Given the description of an element on the screen output the (x, y) to click on. 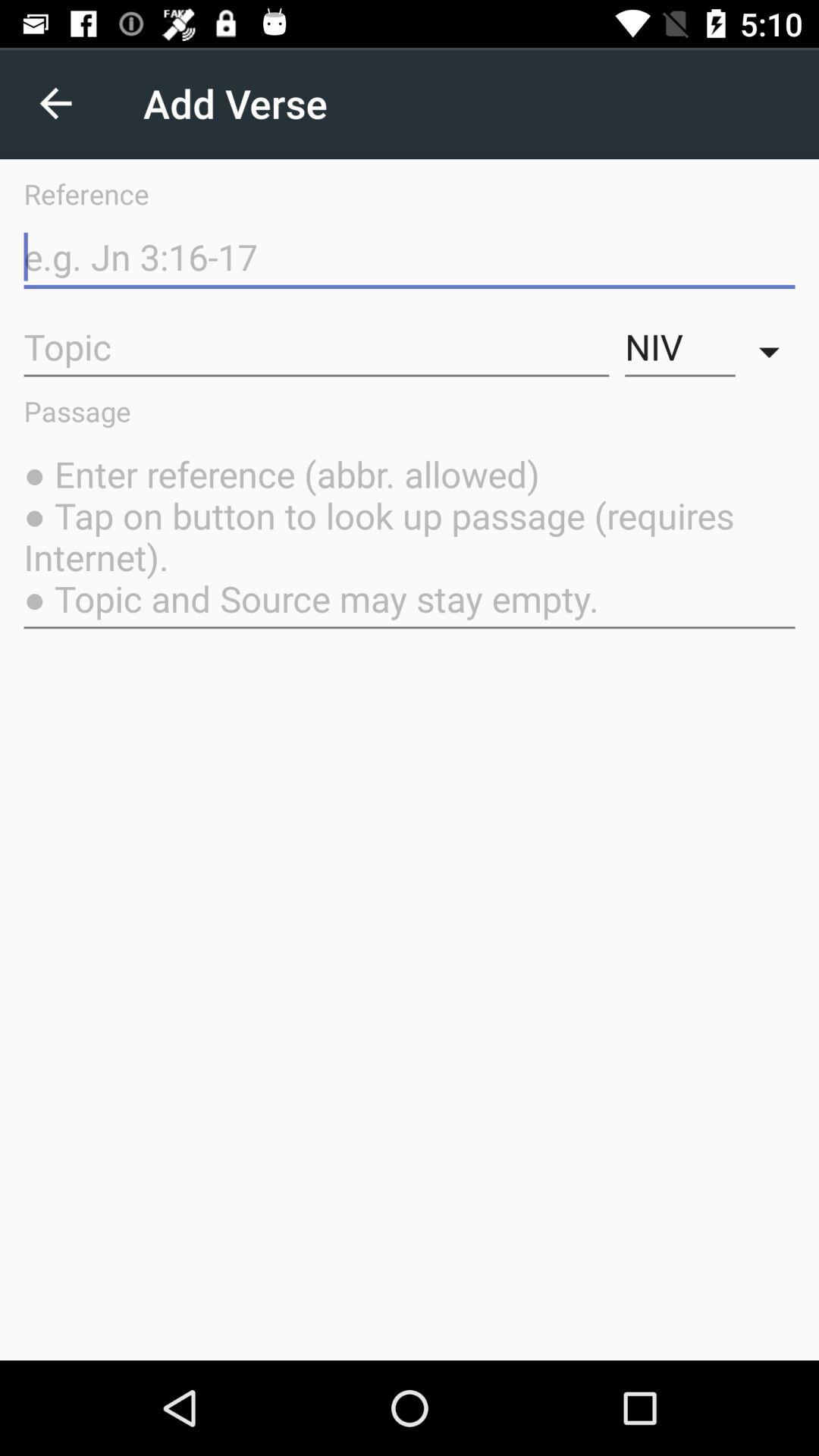
open the icon next to the add verse app (55, 103)
